Given the description of an element on the screen output the (x, y) to click on. 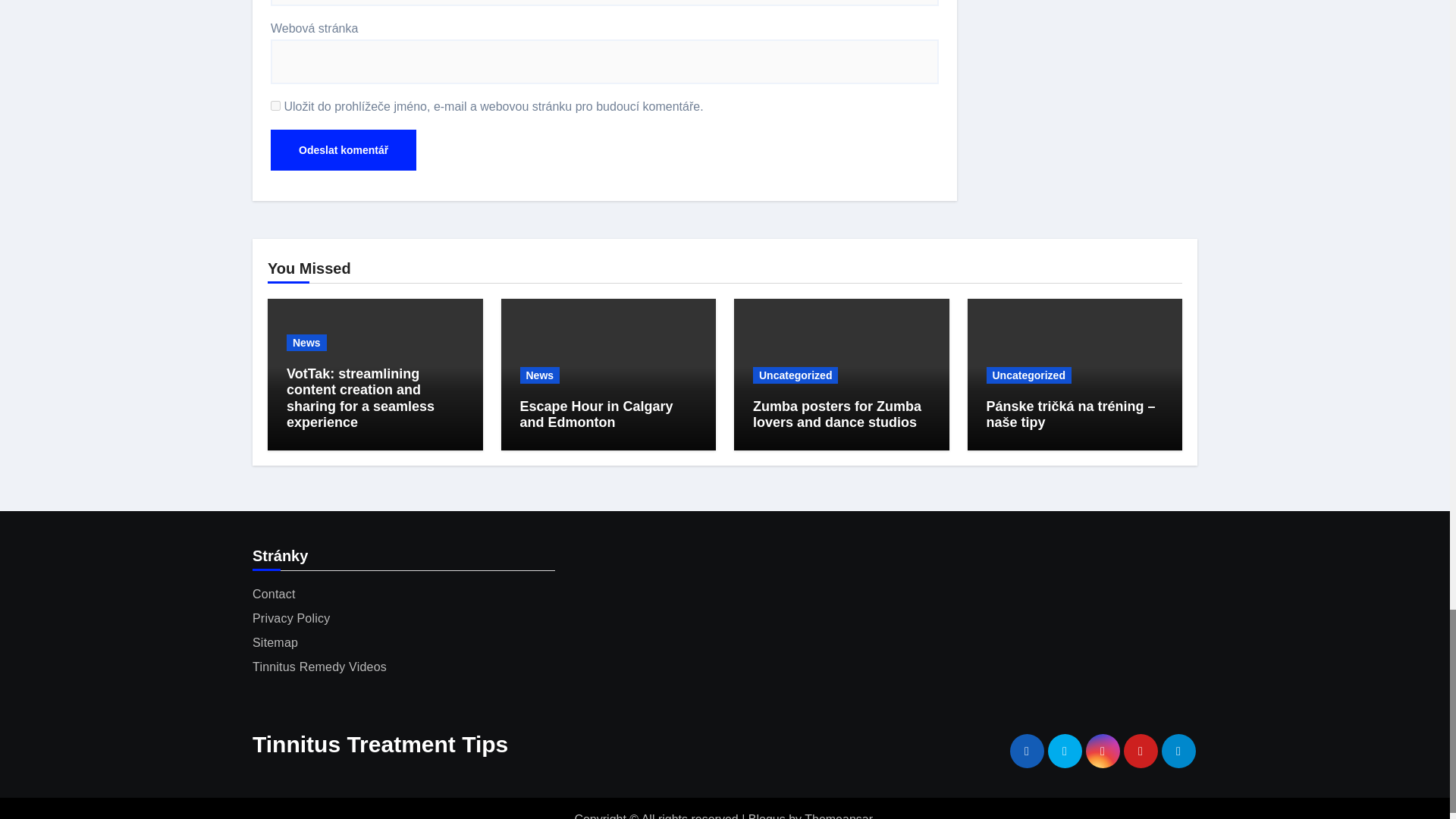
Permalink to: Escape Hour in Calgary and Edmonton (595, 414)
yes (275, 105)
